Given the description of an element on the screen output the (x, y) to click on. 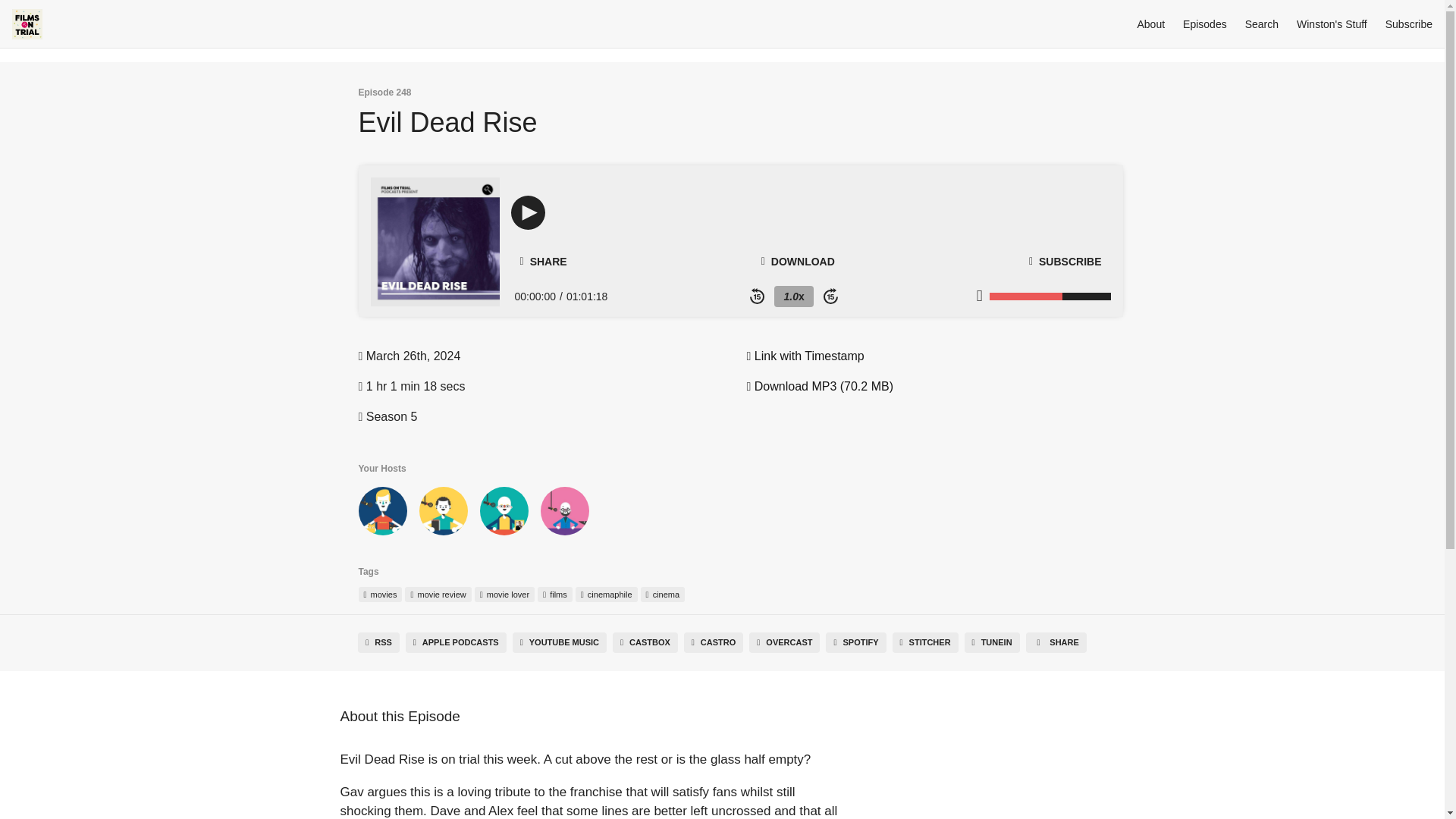
APPLE PODCASTS (456, 642)
YOUTUBE MUSIC (559, 642)
About (1151, 24)
OVERCAST (784, 642)
SHARE (543, 261)
films (554, 594)
Gav (382, 513)
SUBSCRIBE (1065, 261)
cinemaphile (606, 594)
movie lover (504, 594)
